Given the description of an element on the screen output the (x, y) to click on. 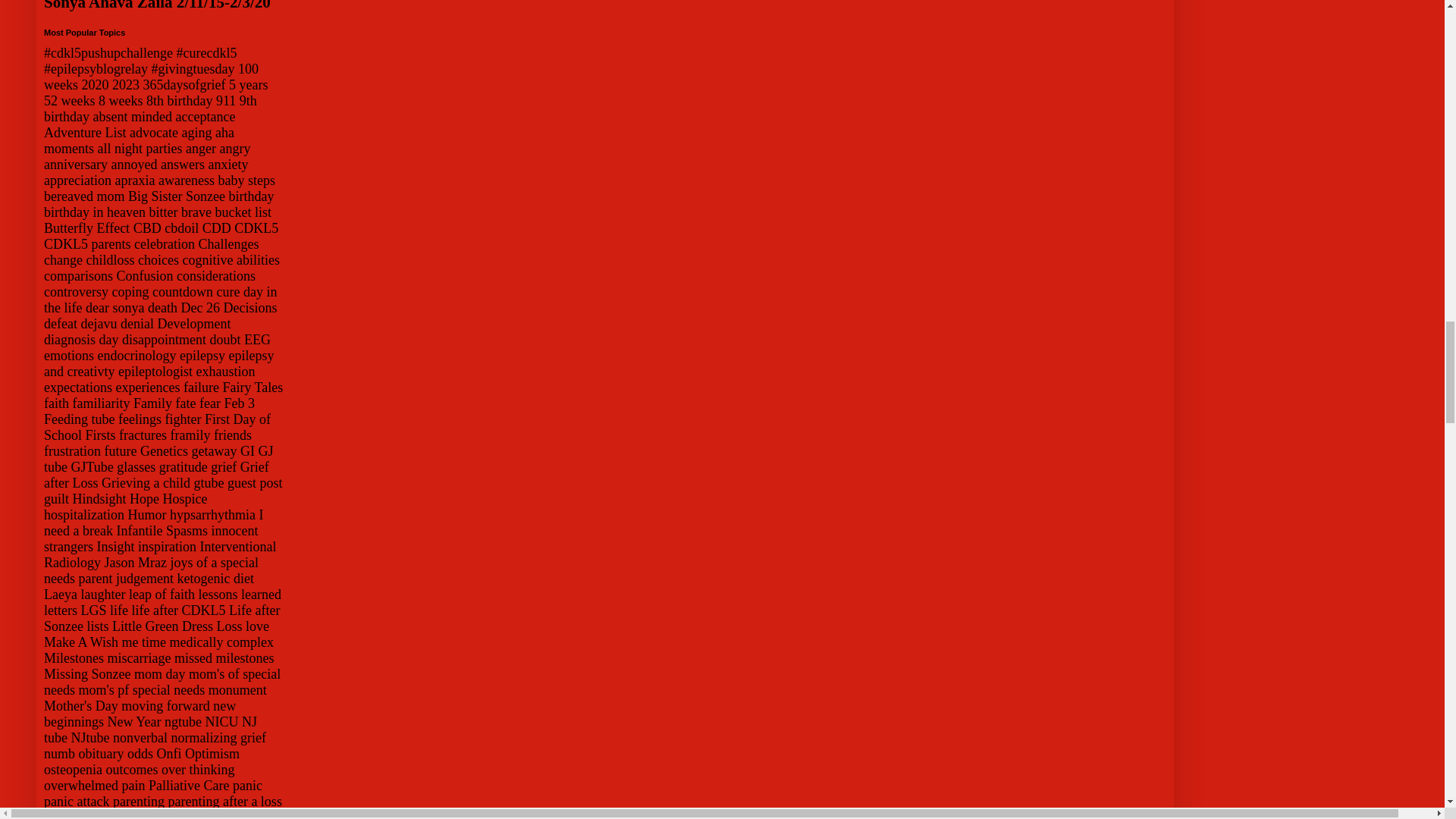
365daysofgrief (183, 84)
2020 (94, 84)
2023 (125, 84)
5 years (247, 84)
100 weeks (151, 76)
